Given the description of an element on the screen output the (x, y) to click on. 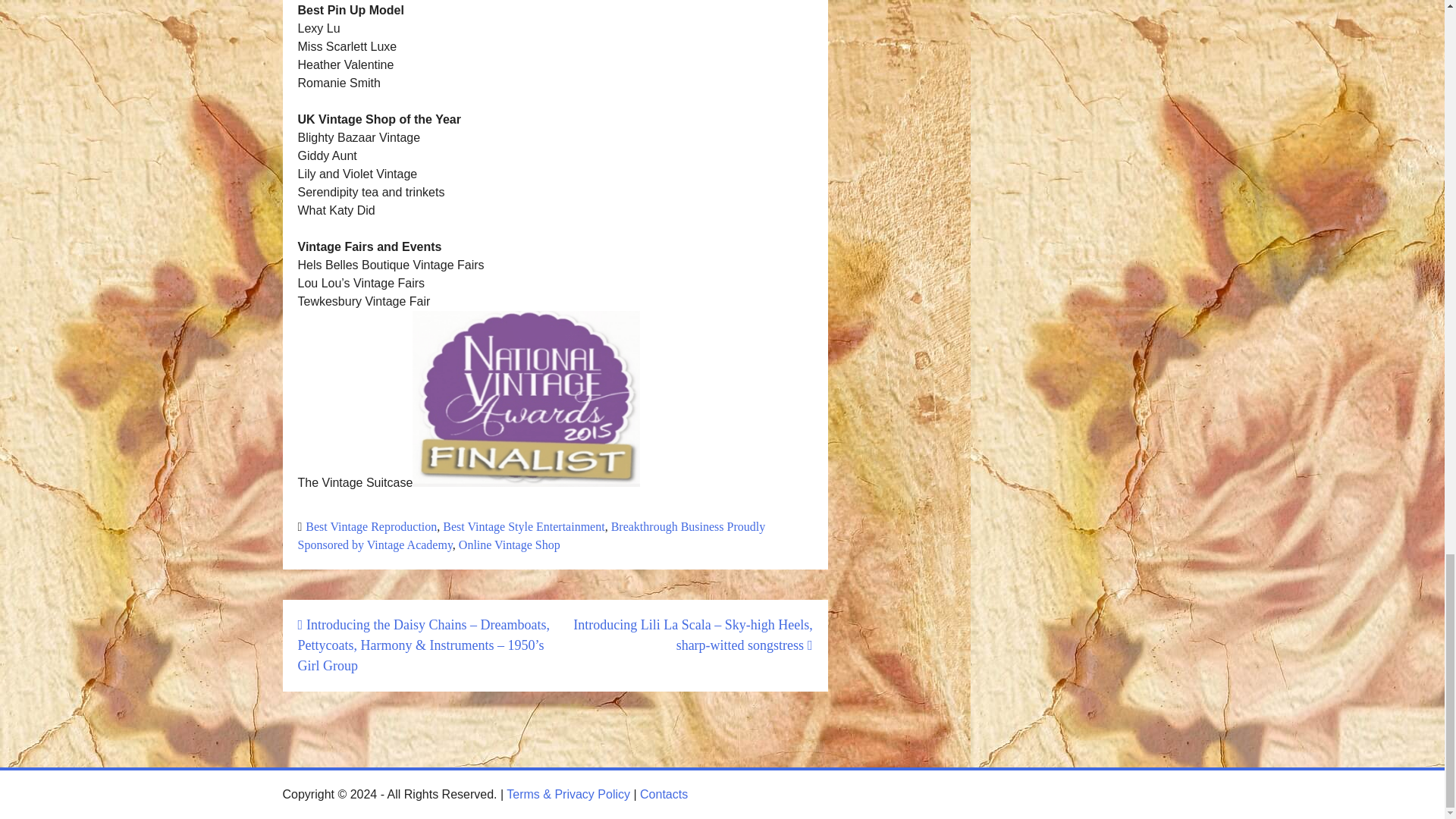
Breakthrough Business Proudly Sponsored by Vintage Academy (531, 535)
Best Vintage Reproduction (370, 526)
Best Vintage Style Entertainment (523, 526)
Contacts (663, 793)
Online Vintage Shop (509, 544)
